Given the description of an element on the screen output the (x, y) to click on. 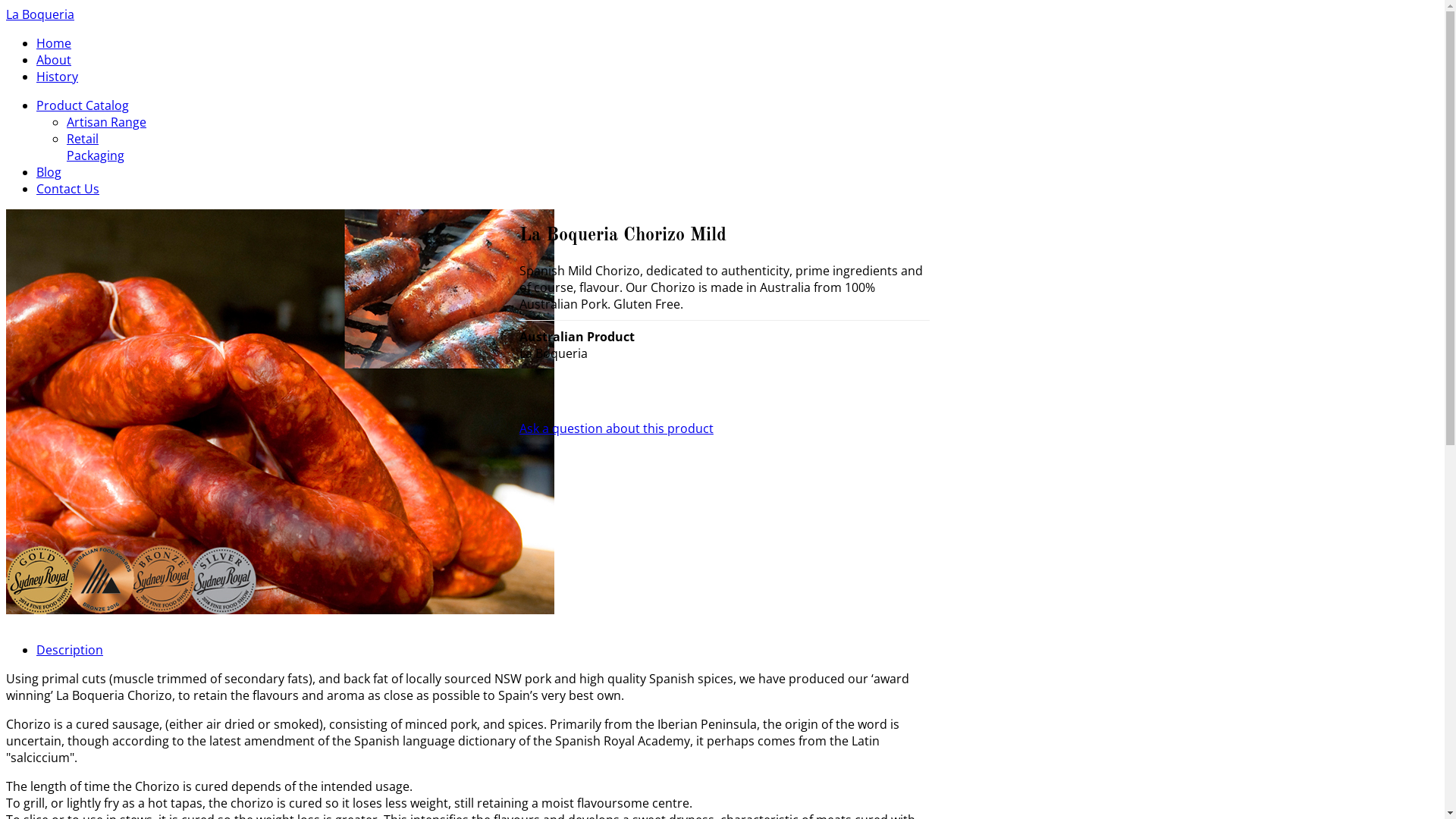
Artisan Range Element type: text (106, 121)
Product Catalog Element type: text (82, 105)
La Boqueria Element type: text (40, 14)
Home Element type: text (53, 42)
Description Element type: text (69, 649)
Blog Element type: text (48, 171)
History Element type: text (57, 76)
Retail Packaging Element type: text (95, 146)
Chorizo Mild 3 W Element type: hover (280, 609)
About Element type: text (53, 59)
Ask a question about this product Element type: text (616, 428)
Contact Us Element type: text (67, 188)
